Given the description of an element on the screen output the (x, y) to click on. 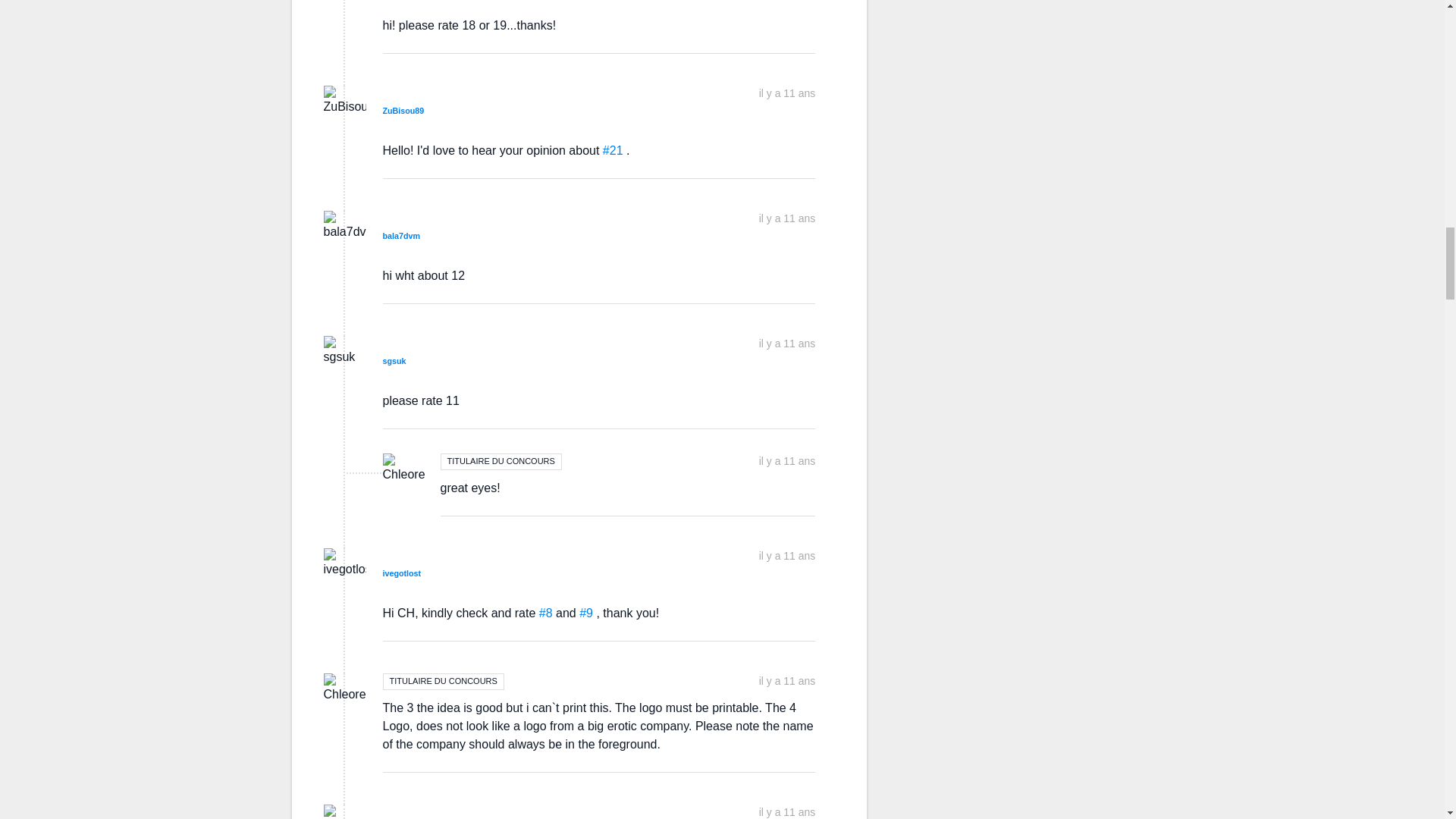
ZuBisou89 (402, 110)
ivegotlost (400, 573)
bala7dvm (400, 235)
sgsuk (393, 360)
